Given the description of an element on the screen output the (x, y) to click on. 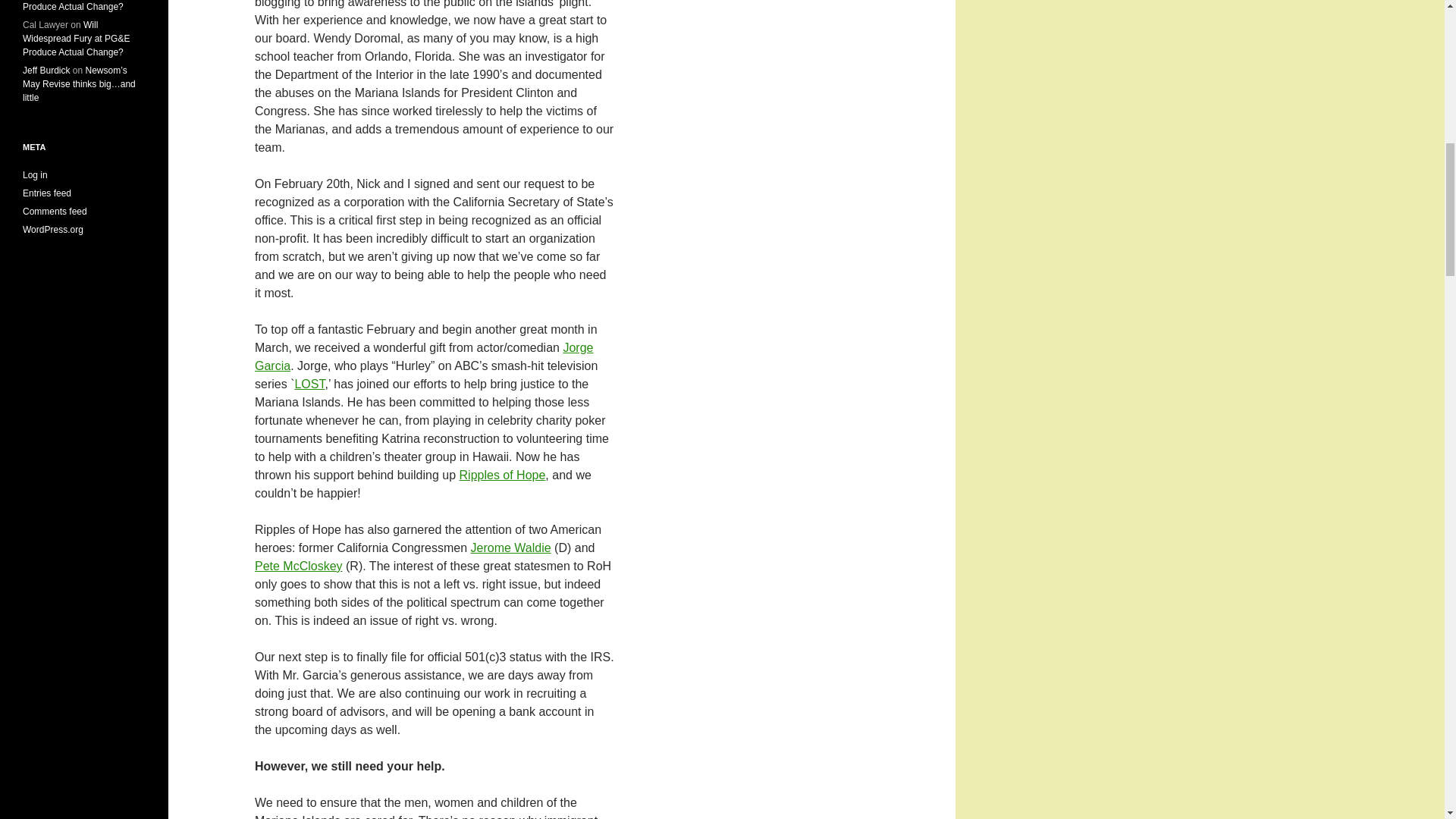
LOST (309, 383)
Jerome Waldie (510, 547)
Pete McCloskey (298, 565)
Ripples of Hope (503, 474)
Jorge Garcia (423, 356)
